Given the description of an element on the screen output the (x, y) to click on. 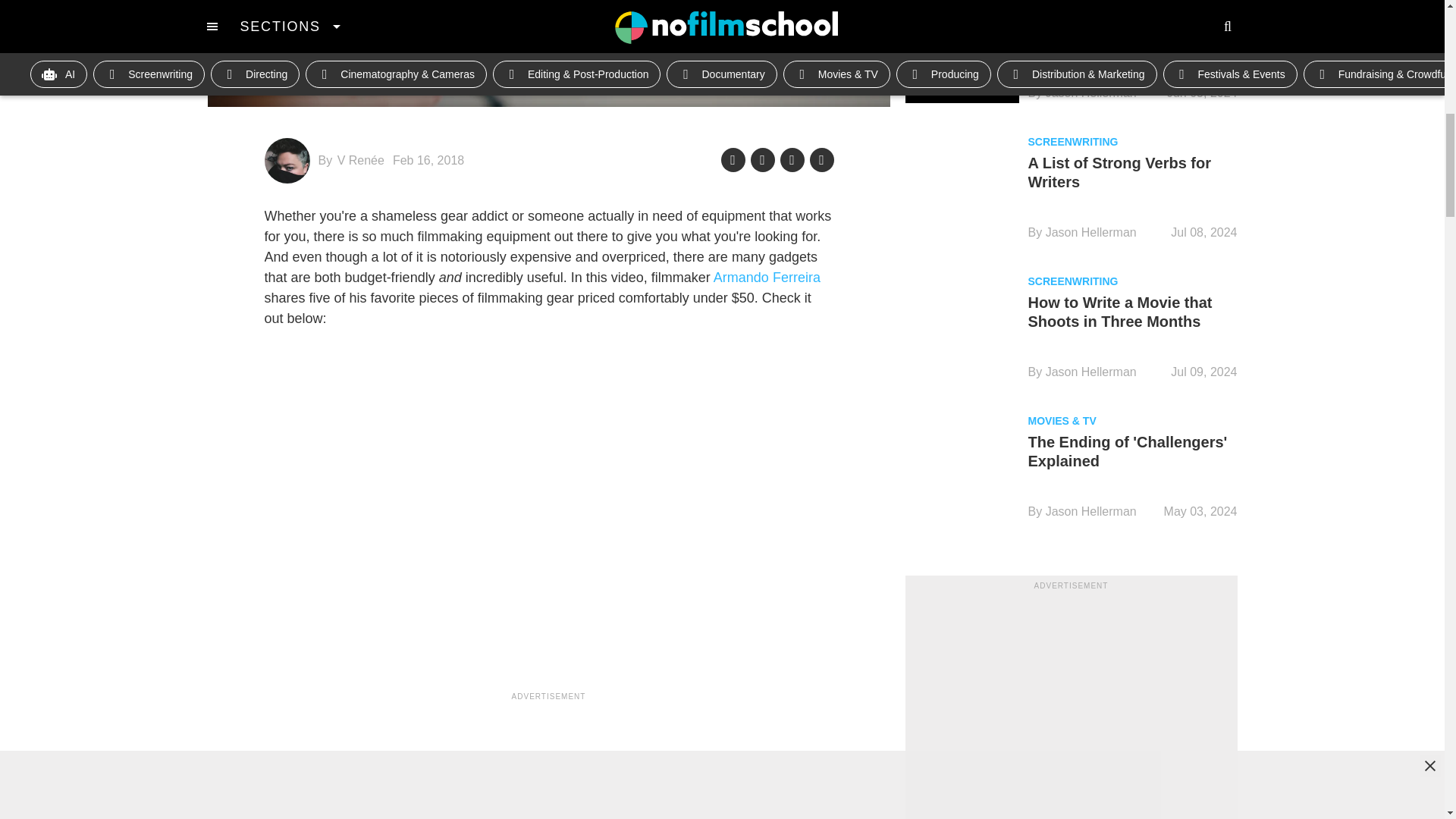
3rd party ad content (1070, 705)
3rd party ad content (548, 762)
